Given the description of an element on the screen output the (x, y) to click on. 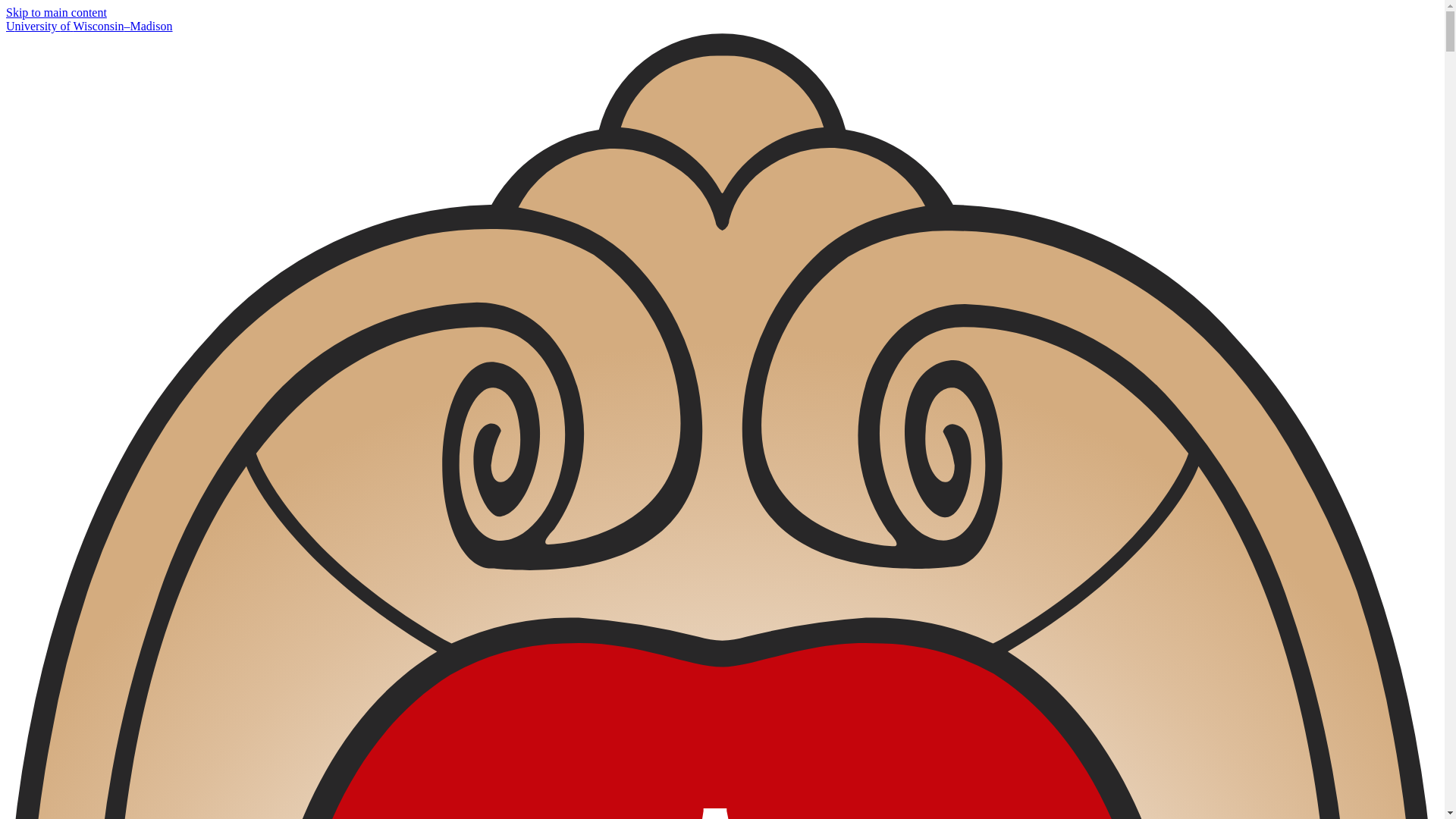
Skip to main content (55, 11)
